Given the description of an element on the screen output the (x, y) to click on. 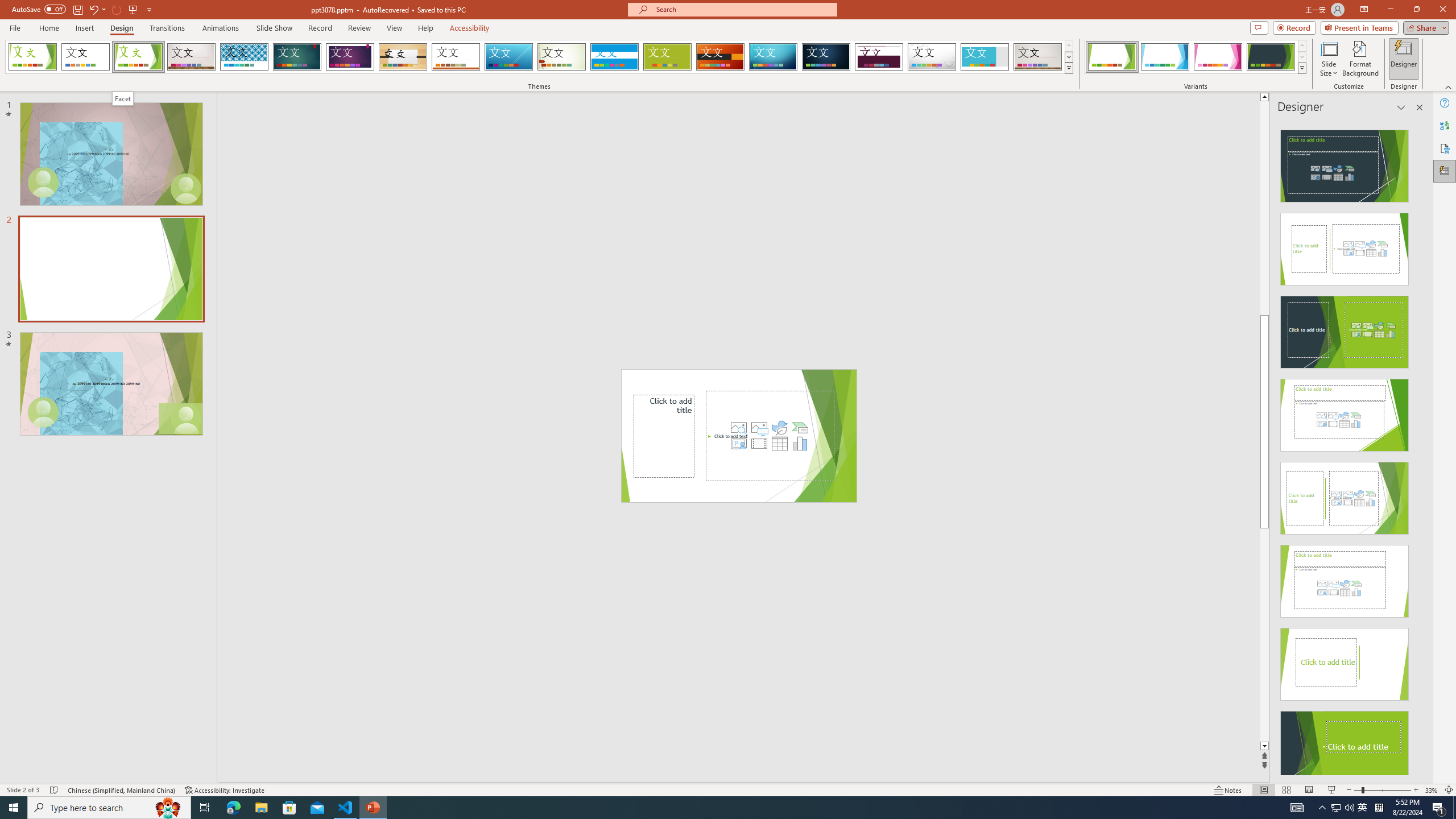
Office Theme (85, 56)
Content Placeholder (770, 435)
